Given the description of an element on the screen output the (x, y) to click on. 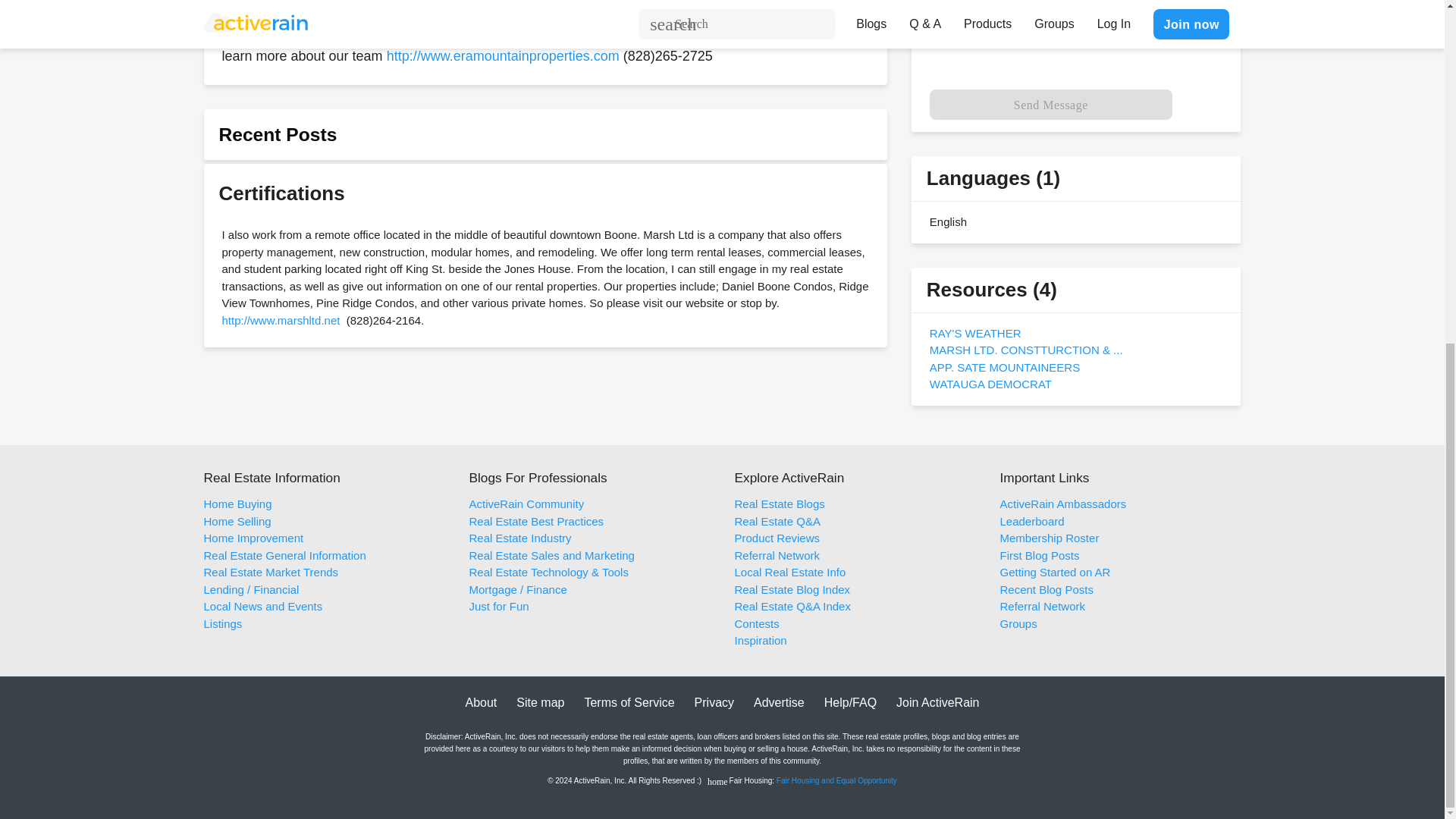
Listings (222, 623)
Real Estate Market Trends (270, 571)
Real Estate General Information (284, 554)
Real Estate Best Practices (536, 521)
App. Sate Mountaineers (1005, 366)
RAY'S WEATHER (976, 332)
Home Improvement (252, 537)
Local News and Events (262, 605)
Home Buying (236, 503)
ActiveRain Community (525, 503)
APP. SATE MOUNTAINEERS (1005, 366)
Send Message (1051, 104)
WATAUGA DEMOCRAT (990, 383)
Send Message (1051, 104)
Watauga Democrat (990, 383)
